Given the description of an element on the screen output the (x, y) to click on. 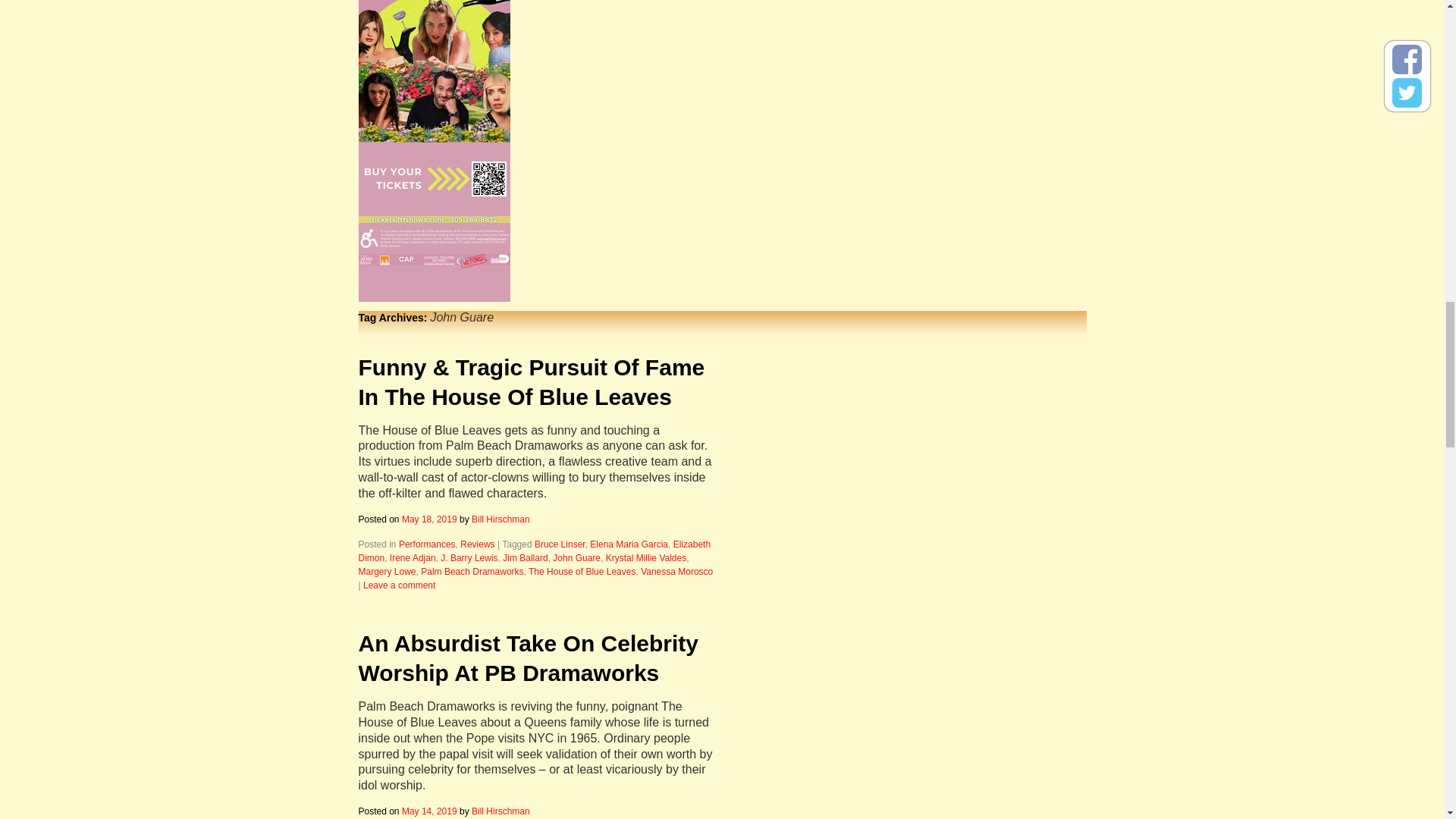
Jim Ballard (524, 557)
John Guare (576, 557)
The House of Blue Leaves (581, 571)
May 18, 2019 (429, 519)
Bruce Linser (559, 543)
8:30 am (429, 810)
View all posts by Bill Hirschman (500, 810)
J. Barry Lewis (469, 557)
Irene Adjan (412, 557)
Performances (426, 543)
Krystal Millie Valdes (645, 557)
Elena Maria Garcia (628, 543)
Reviews (477, 543)
Margery Lowe (386, 571)
11:57 pm (429, 519)
